Given the description of an element on the screen output the (x, y) to click on. 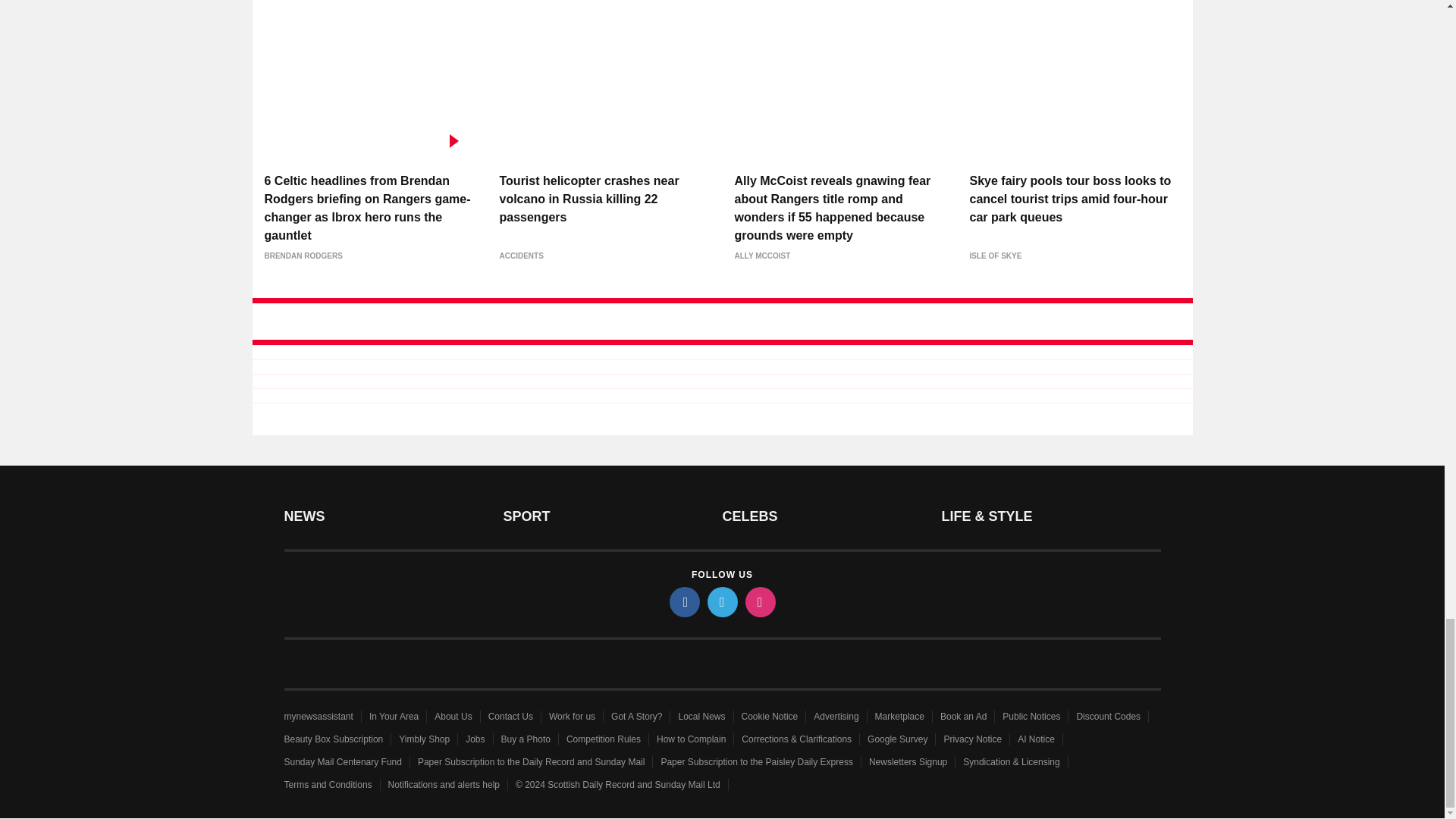
instagram (759, 602)
facebook (683, 602)
twitter (721, 602)
